Given the description of an element on the screen output the (x, y) to click on. 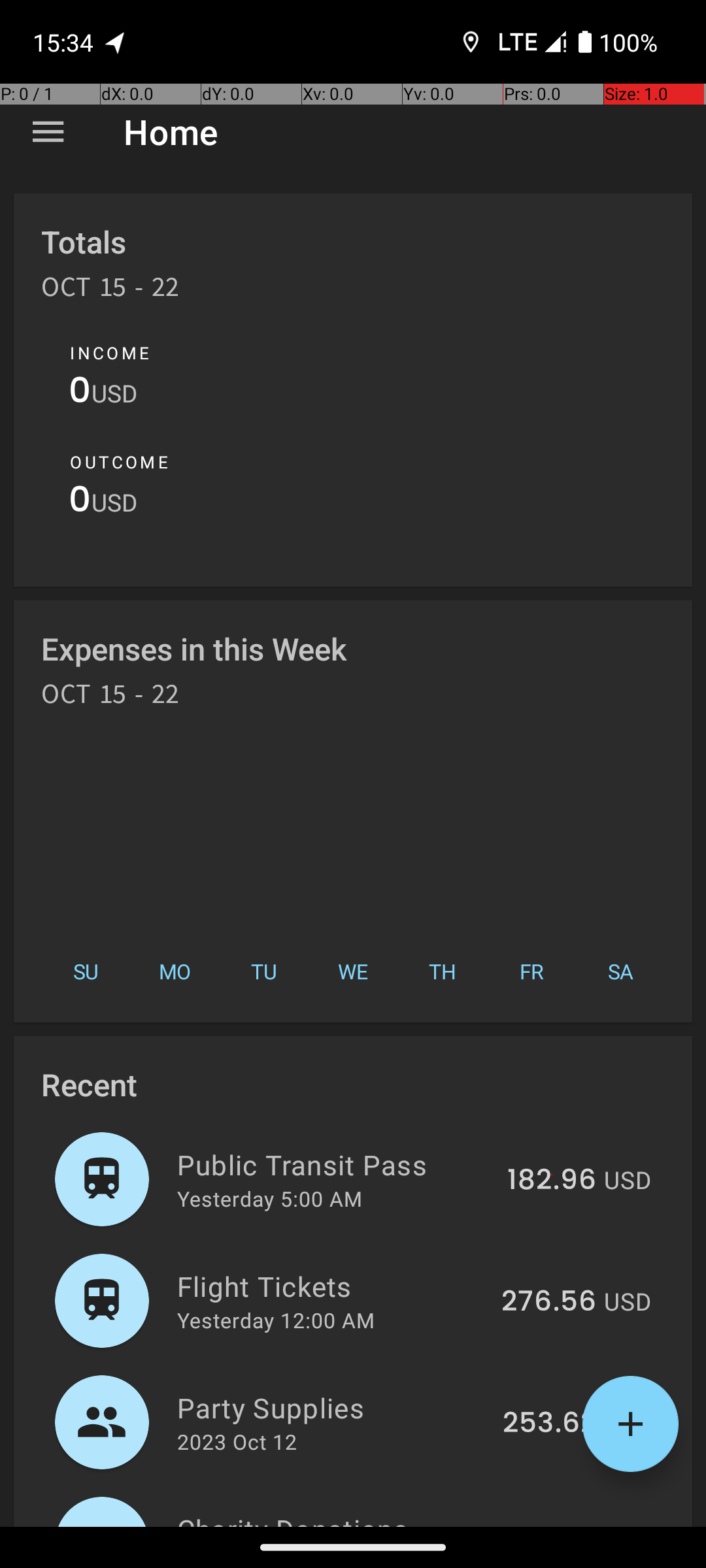
Public Transit Pass Element type: android.widget.TextView (334, 1164)
Yesterday 5:00 AM Element type: android.widget.TextView (269, 1198)
182.96 Element type: android.widget.TextView (551, 1180)
Flight Tickets Element type: android.widget.TextView (331, 1285)
Yesterday 12:00 AM Element type: android.widget.TextView (275, 1320)
276.56 Element type: android.widget.TextView (548, 1301)
Party Supplies Element type: android.widget.TextView (332, 1407)
253.62 Element type: android.widget.TextView (549, 1423)
Charity Donations Element type: android.widget.TextView (333, 1518)
480.16 Element type: android.widget.TextView (550, 1524)
